Given the description of an element on the screen output the (x, y) to click on. 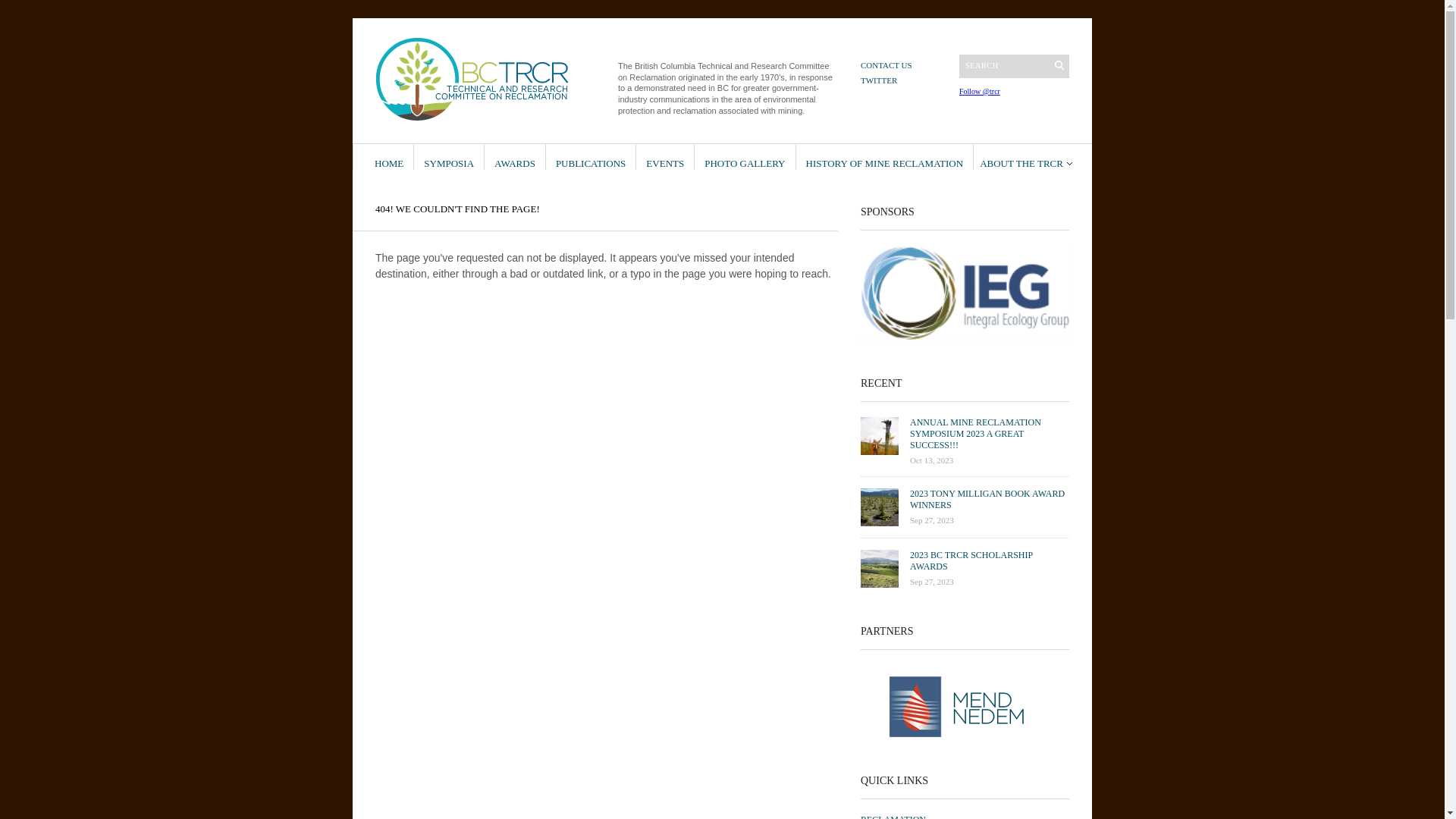
Follow @trcr Element type: text (979, 91)
PUBLICATIONS Element type: text (590, 156)
TRCR - Home Element type: hover (485, 79)
AWARDS Element type: text (514, 156)
HOME Element type: text (388, 156)
PHOTO GALLERY Element type: text (744, 156)
SYMPOSIA Element type: text (448, 156)
ABOUT THE TRCR Element type: text (1025, 156)
TWITTER Element type: text (878, 79)
2023 TONY MILLIGAN BOOK AWARD WINNERS
Sep 27, 2023 Element type: text (964, 513)
CONTACT US Element type: text (886, 64)
EVENTS Element type: text (665, 156)
2023 BC TRCR SCHOLARSHIP AWARDS
Sep 27, 2023 Element type: text (964, 574)
HISTORY OF MINE RECLAMATION Element type: text (884, 156)
